Given the description of an element on the screen output the (x, y) to click on. 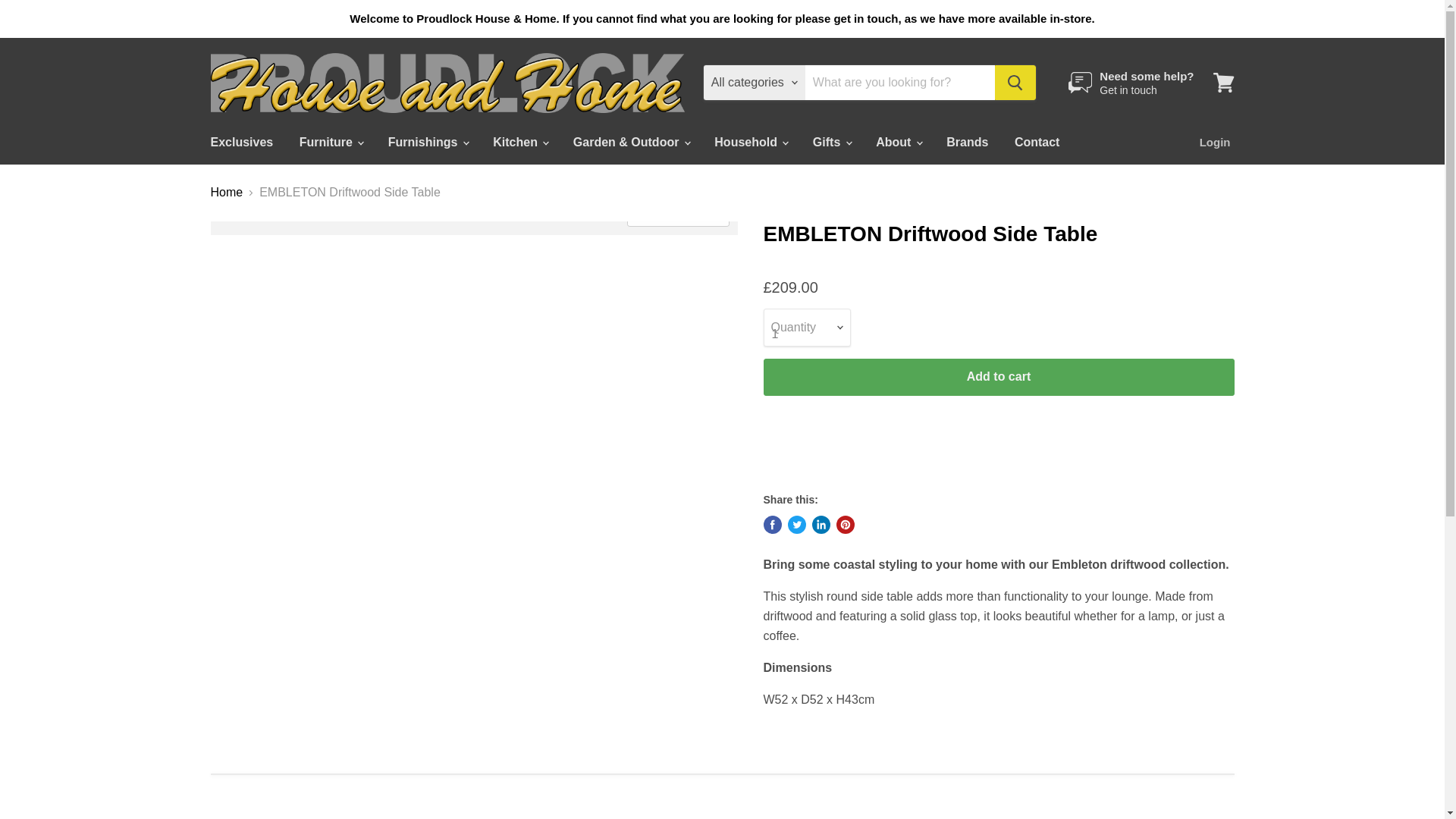
Furniture (331, 142)
View cart (1223, 82)
Exclusives (240, 142)
